Given the description of an element on the screen output the (x, y) to click on. 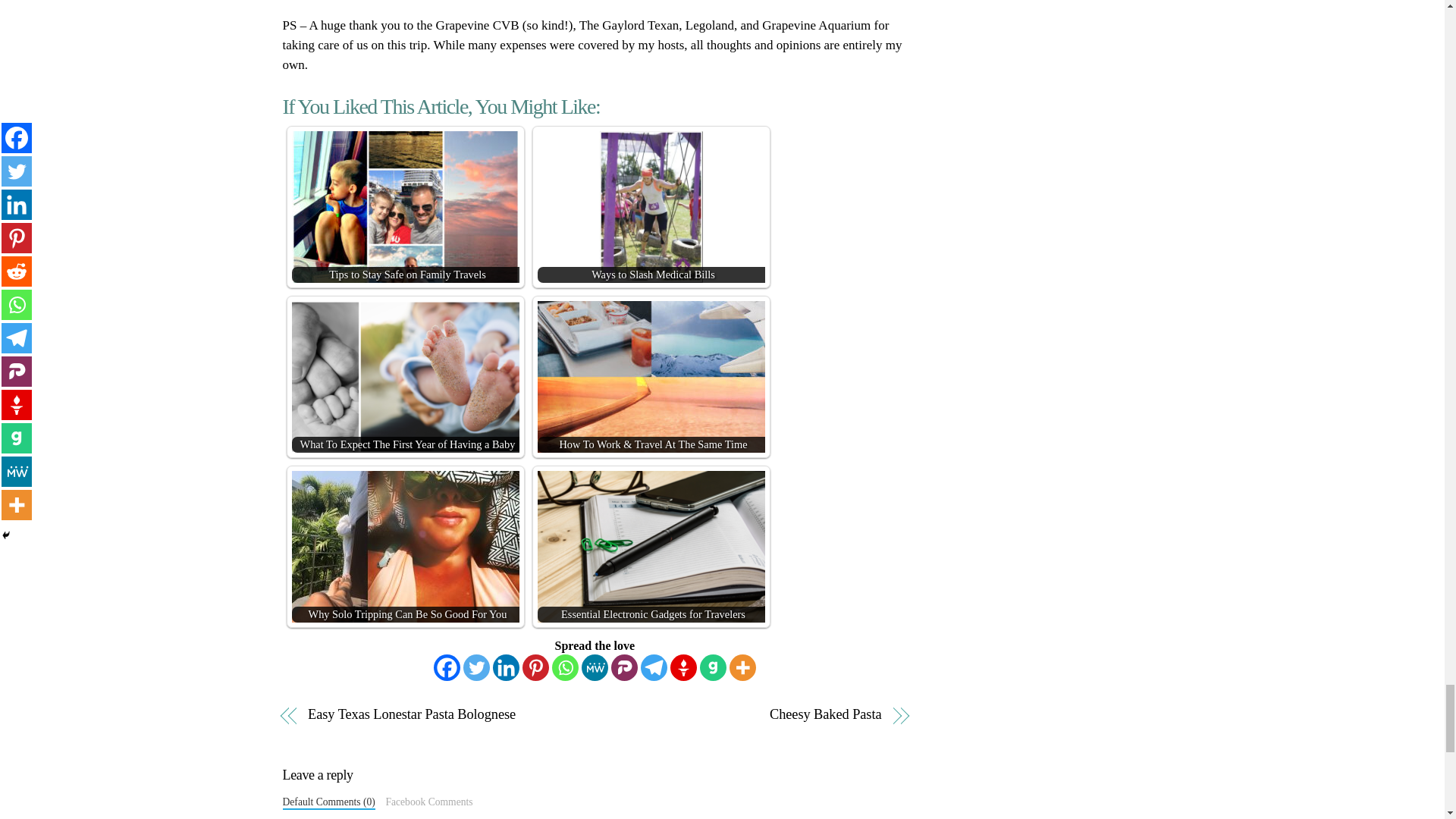
Essential Electronic Gadgets for Travelers (650, 546)
Parler (624, 667)
Tips to Stay Safe on Family Travels (404, 206)
Whatsapp (564, 667)
Ways to Slash Medical Bills (650, 206)
Essential Electronic Gadgets for Travelers (650, 546)
Why Solo Tripping Can Be So Good For You (404, 546)
Telegram (653, 667)
Facebook (446, 667)
Pinterest (535, 667)
Twitter (476, 667)
Why Solo Tripping Can Be So Good For You (404, 546)
What To Expect The First Year of Having a Baby (404, 376)
Tips to Stay Safe on Family Travels (404, 206)
MeWe (594, 667)
